Given the description of an element on the screen output the (x, y) to click on. 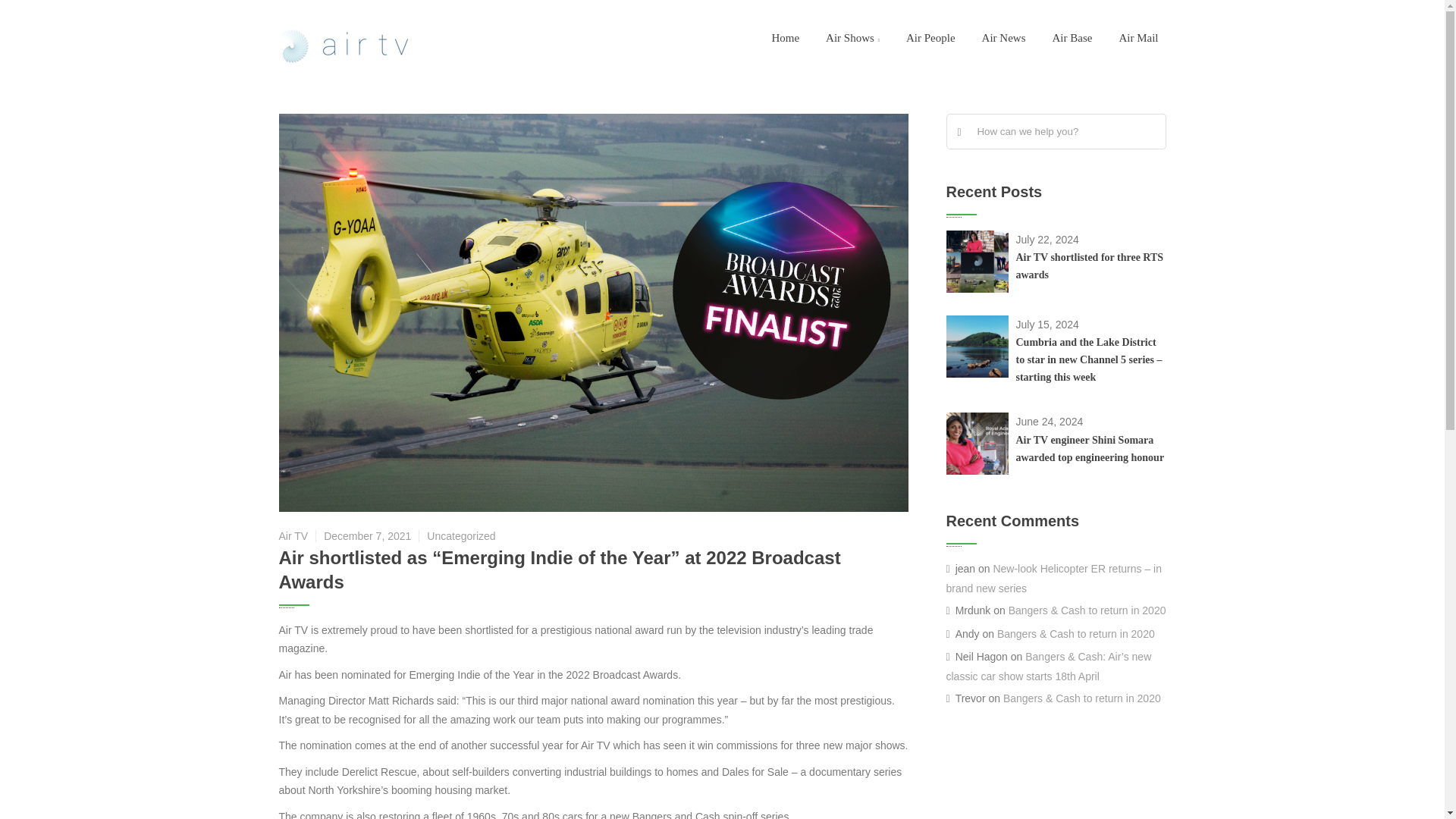
Air TV (346, 46)
Air Shows (852, 38)
View all posts by Air TV (293, 535)
Air TV shortlisted for three RTS awards (1089, 265)
Air TV engineer Shini Somara awarded top engineering honour (1090, 448)
